Given the description of an element on the screen output the (x, y) to click on. 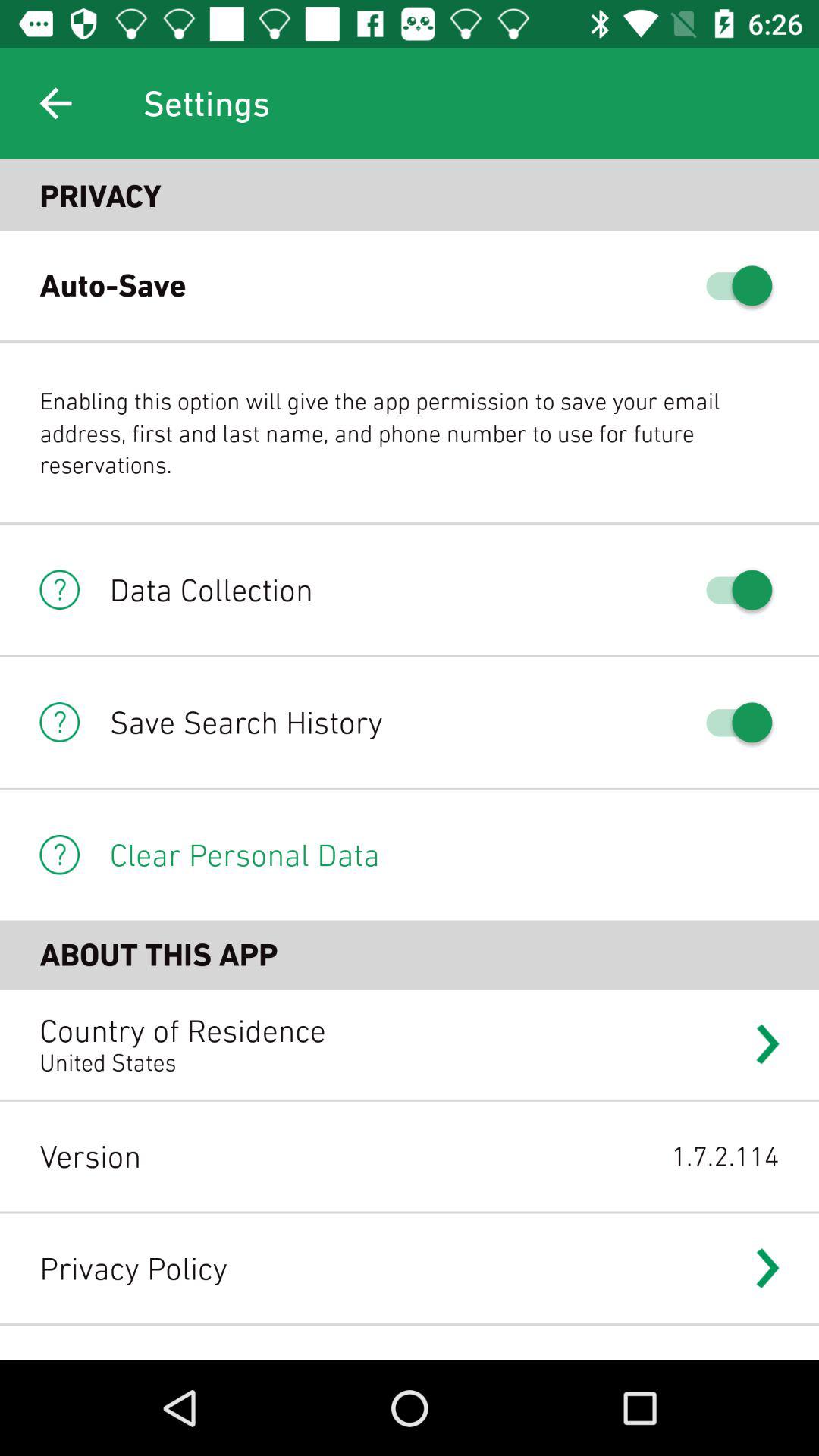
launch the item to the left of settings item (55, 103)
